Given the description of an element on the screen output the (x, y) to click on. 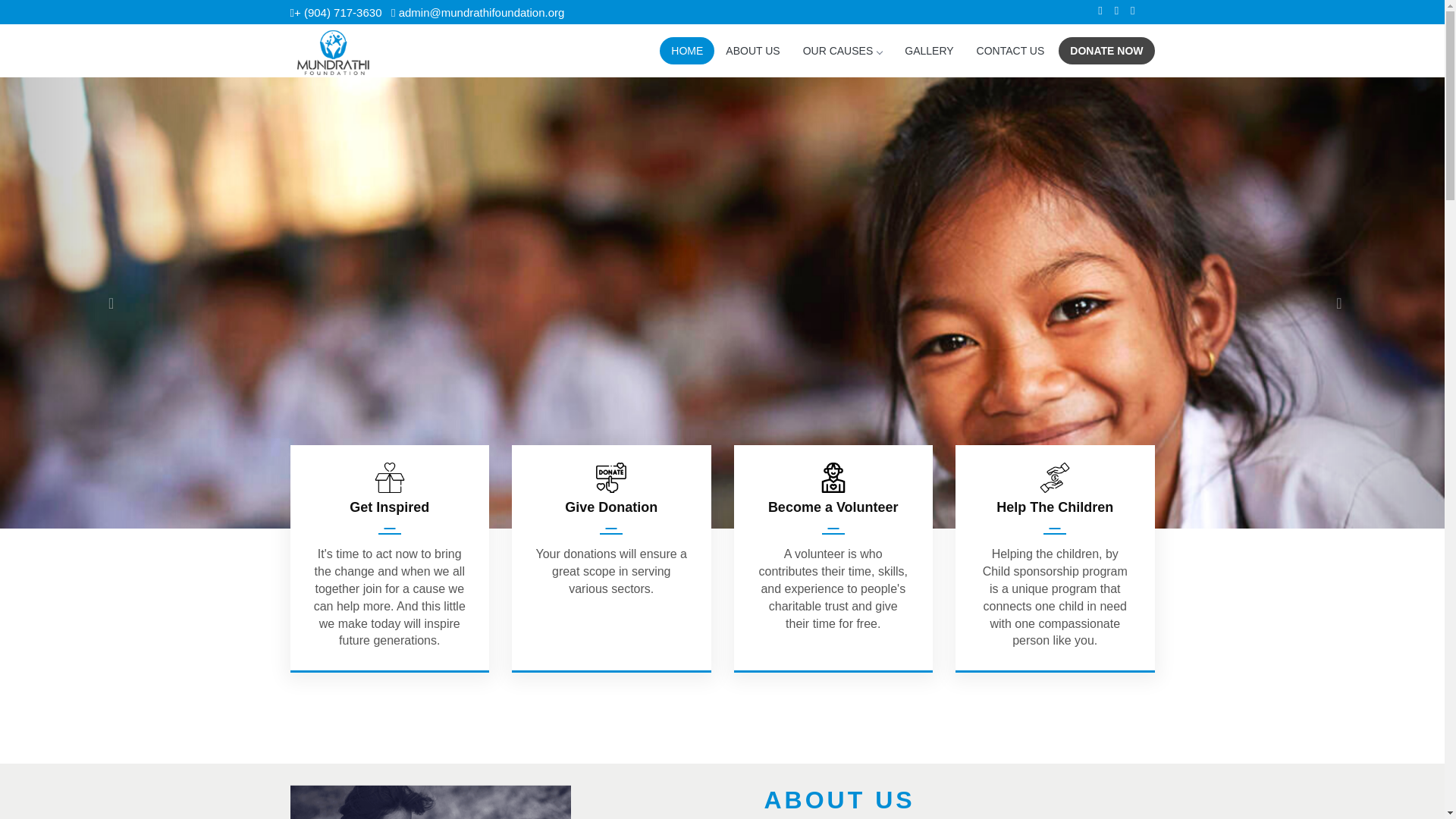
CONTACT US (1011, 50)
OUR CAUSES (842, 50)
ABOUT US (752, 50)
DONATE NOW (1106, 50)
GALLERY (928, 50)
HOME (686, 50)
